Given the description of an element on the screen output the (x, y) to click on. 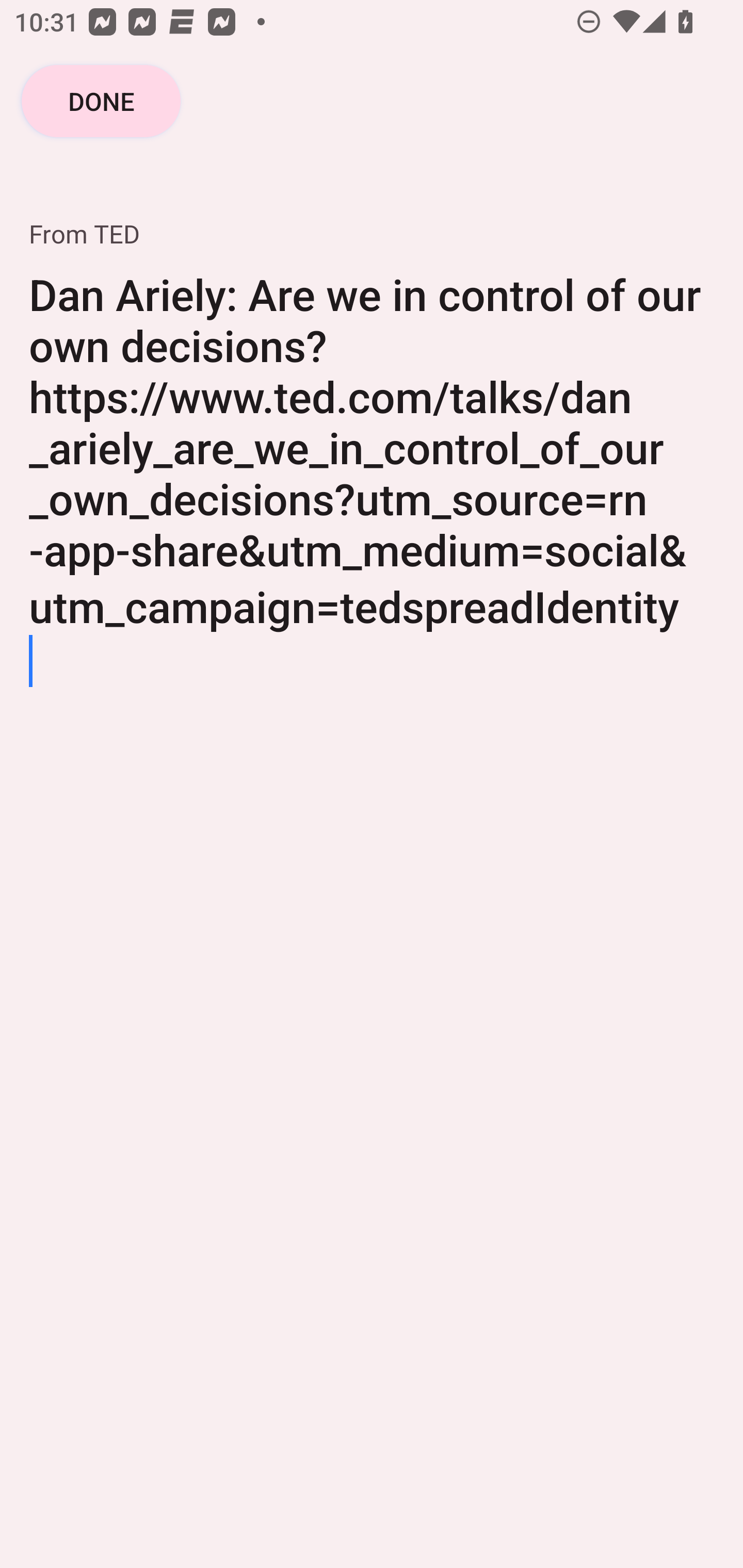
DONE (100, 101)
